Given the description of an element on the screen output the (x, y) to click on. 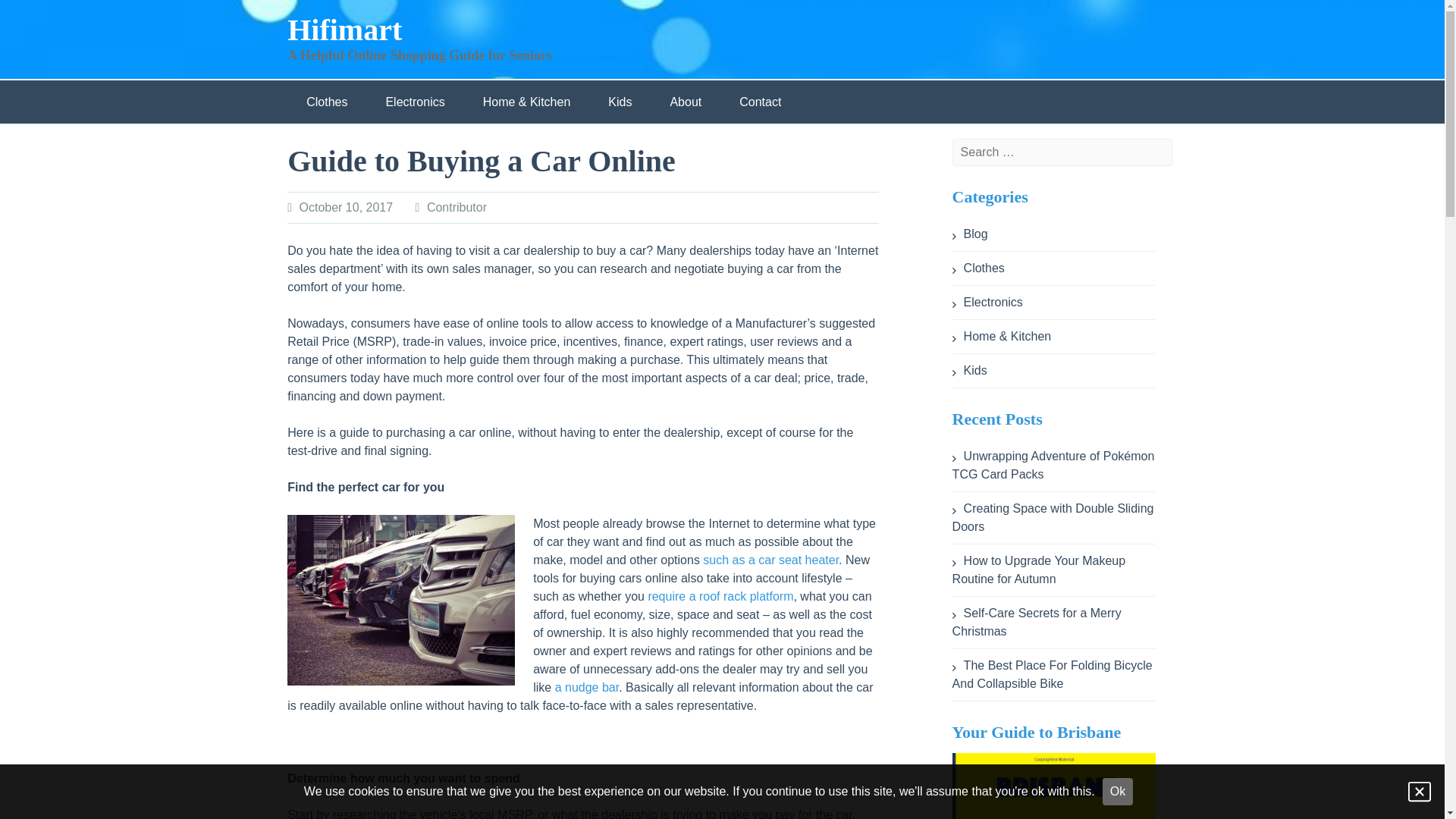
About (685, 101)
such as a car seat heater (770, 559)
October 10, 2017 (345, 206)
How to Upgrade Your Makeup Routine for Autumn (1038, 569)
Contact (759, 101)
Search (443, 9)
a nudge bar (587, 686)
Kids (619, 101)
Hifimart (343, 29)
Electronics (987, 301)
require a roof rack platform (720, 595)
Creating Space with Double Sliding Doors (1053, 517)
The Best Place For Folding Bicycle And Collapsible Bike (1052, 674)
Self-Care Secrets for a Merry Christmas (1036, 622)
Clothes (978, 267)
